Given the description of an element on the screen output the (x, y) to click on. 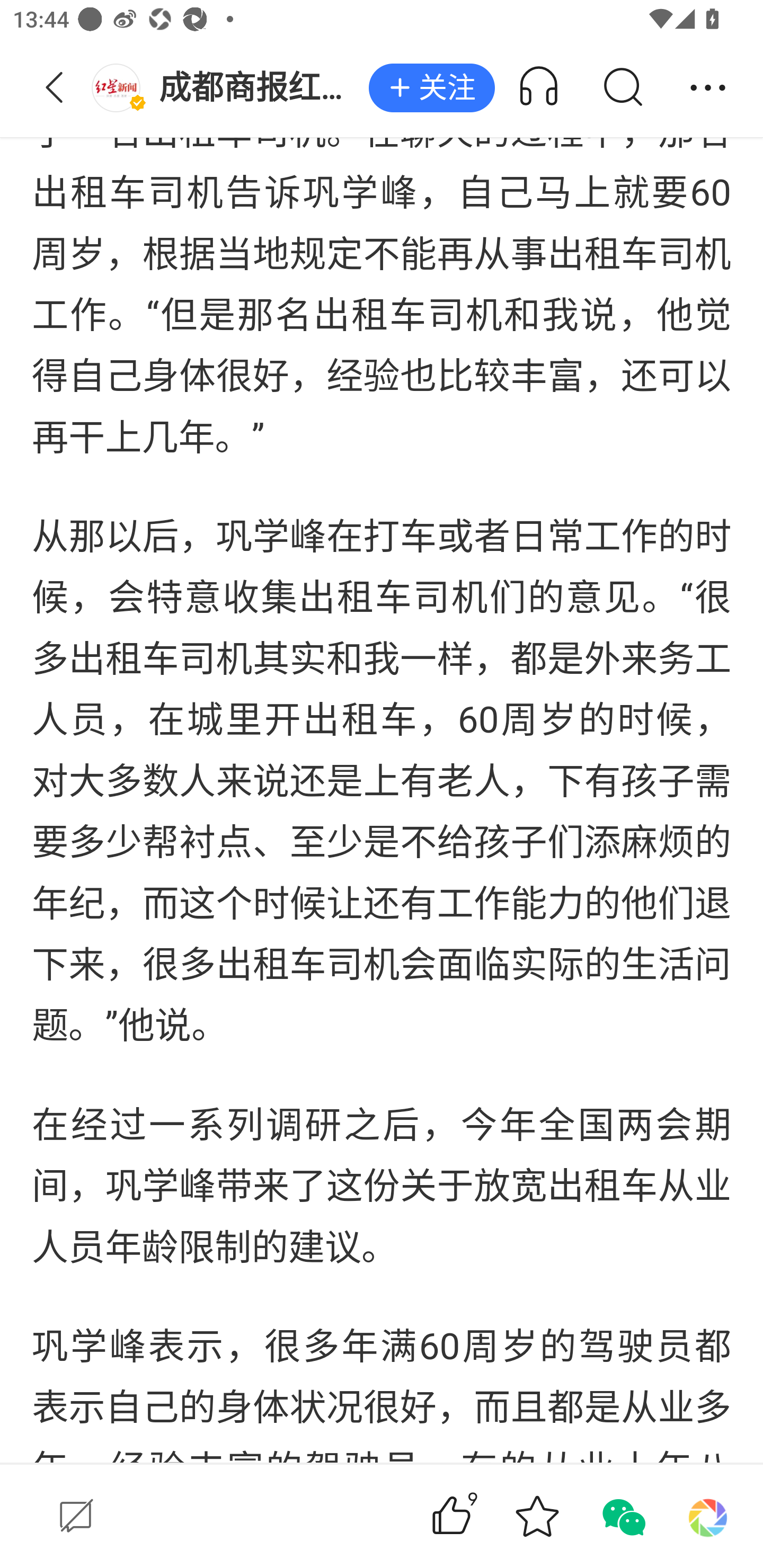
成都商报红星... (229, 87)
搜索  (622, 87)
分享  (707, 87)
 返回 (54, 87)
 关注 (431, 88)
发表评论  发表评论 (199, 1516)
9赞 (476, 1516)
收藏  (536, 1516)
分享到微信  (622, 1516)
分享到朋友圈 (707, 1516)
